Given the description of an element on the screen output the (x, y) to click on. 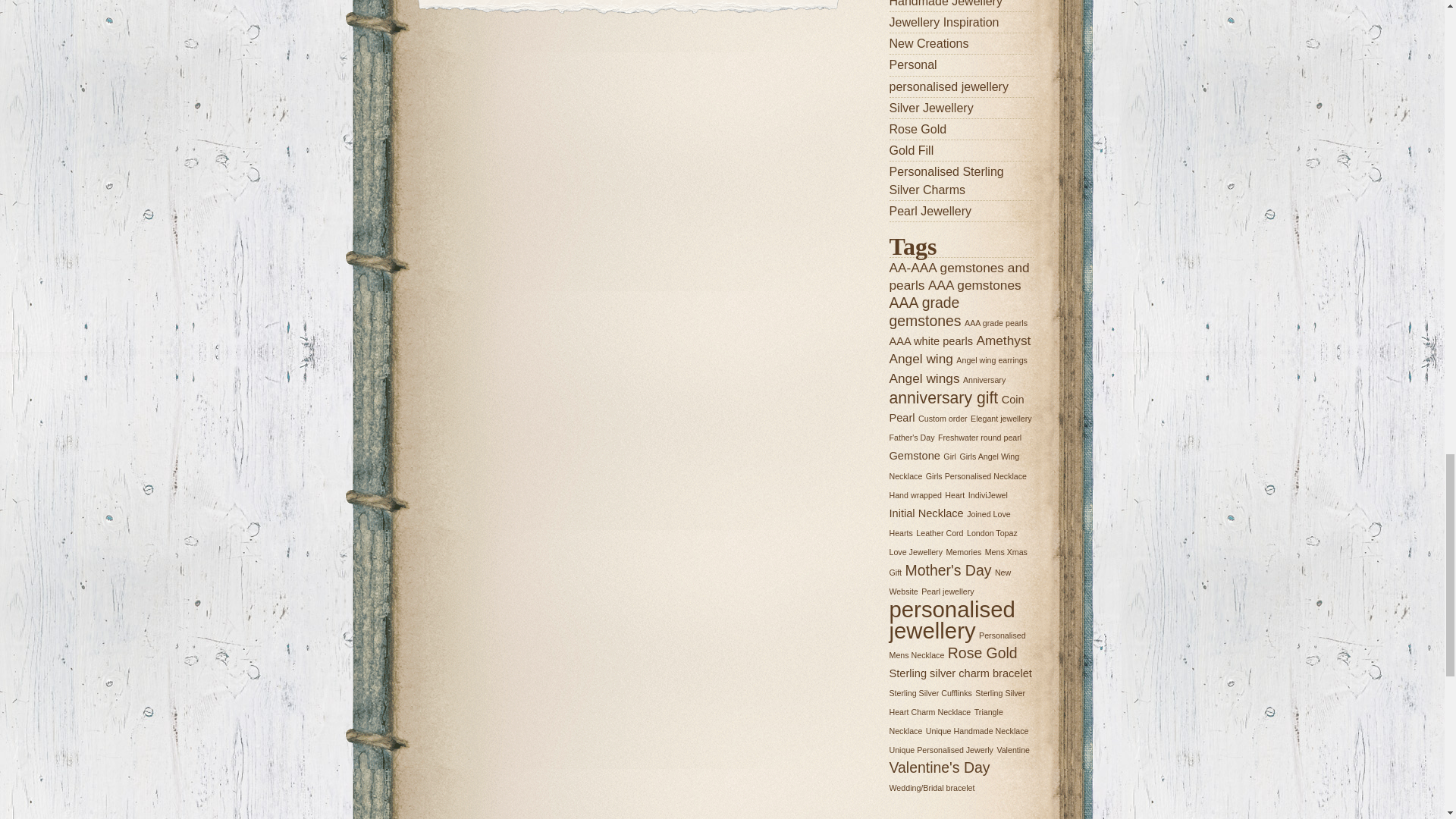
3 topics (958, 275)
New pieces of handmade jewellery (960, 4)
View all posts filed under personalised jewellery (960, 86)
View all posts filed under Rose Gold (960, 129)
Inspiration for creating new pieces of handmade jewellery. (960, 22)
View all posts filed under Silver Jewellery (960, 108)
3 topics (975, 284)
View all posts filed under New Creations (960, 43)
Personal (960, 64)
View all posts filed under Gold Fill (960, 149)
View all posts filed under Pearl Jewellery (960, 211)
